Given the description of an element on the screen output the (x, y) to click on. 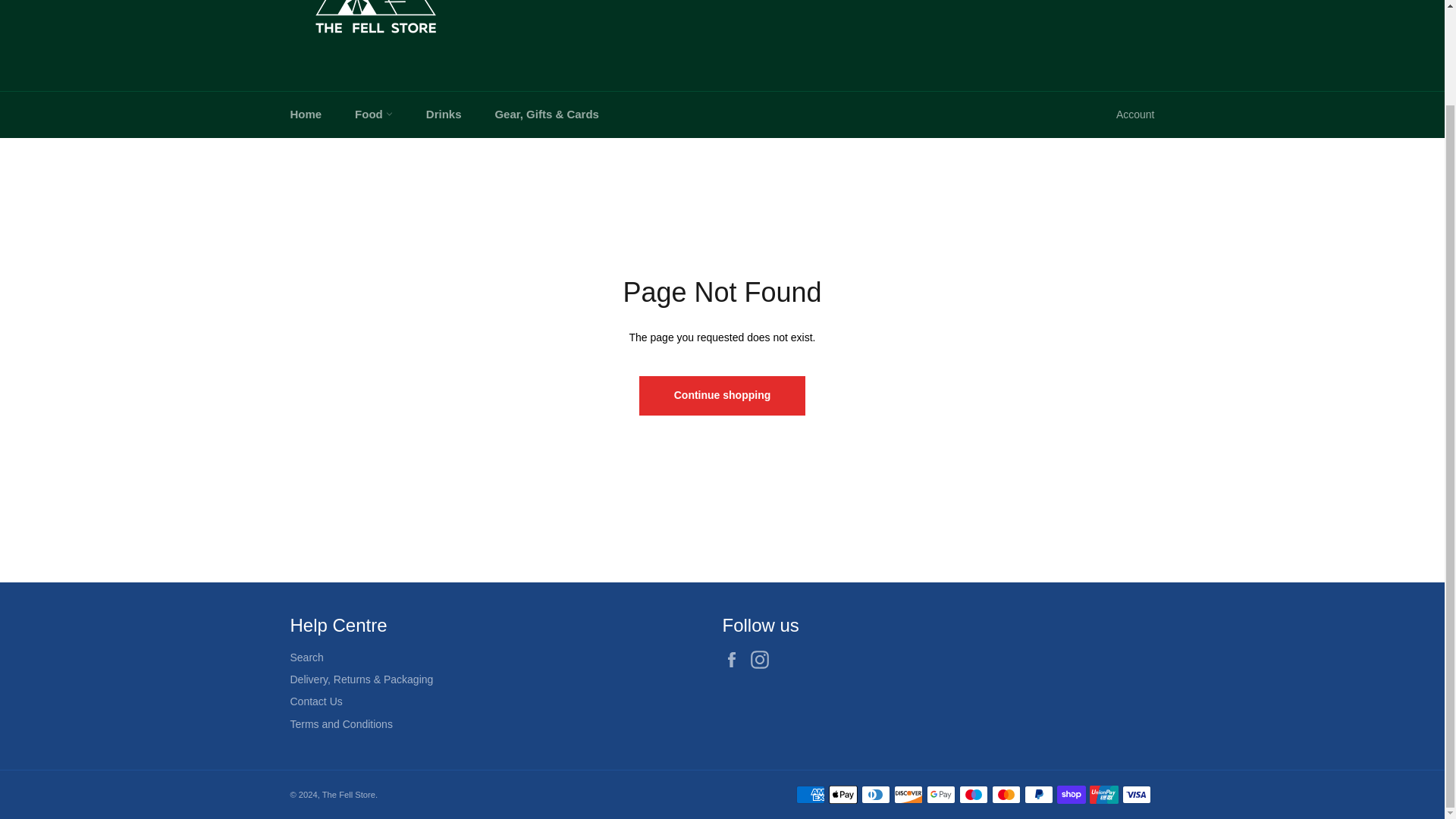
The Fell Store on Instagram (763, 659)
Home (305, 114)
The Fell Store on Facebook (735, 659)
Search (1104, 2)
Food (373, 114)
Cart (1138, 3)
